Given the description of an element on the screen output the (x, y) to click on. 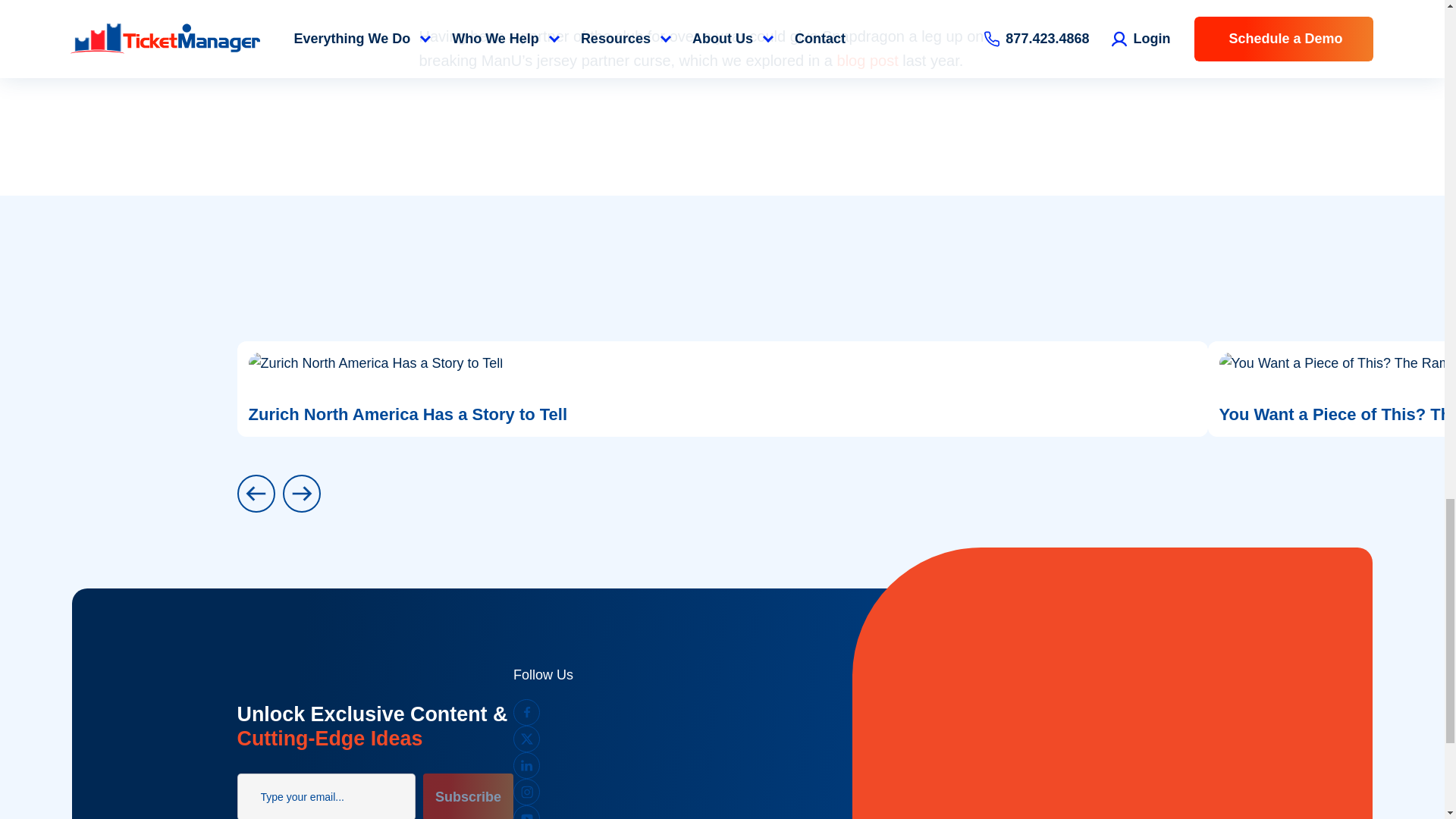
Zurich North America Has a Story to Tell (721, 388)
blog post (867, 60)
Subscribe (468, 796)
